Given the description of an element on the screen output the (x, y) to click on. 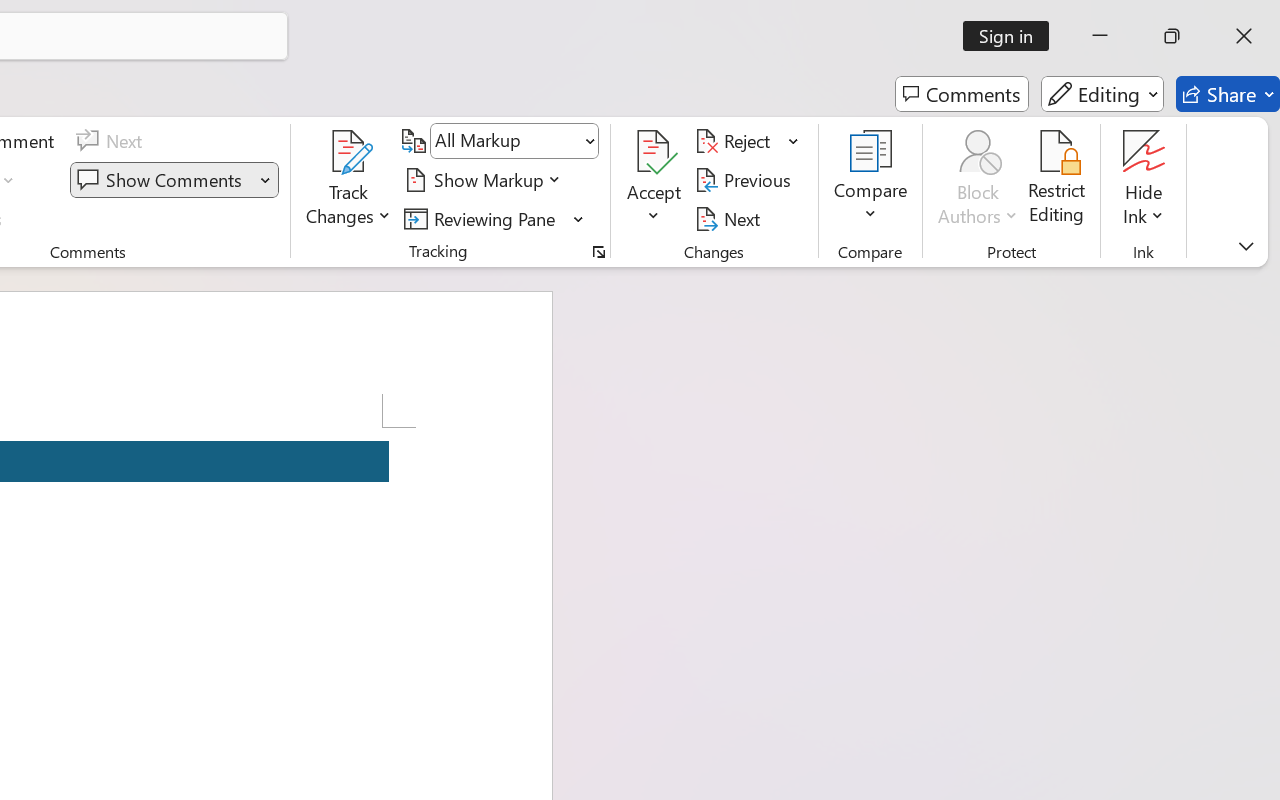
Display for Review (514, 141)
